Given the description of an element on the screen output the (x, y) to click on. 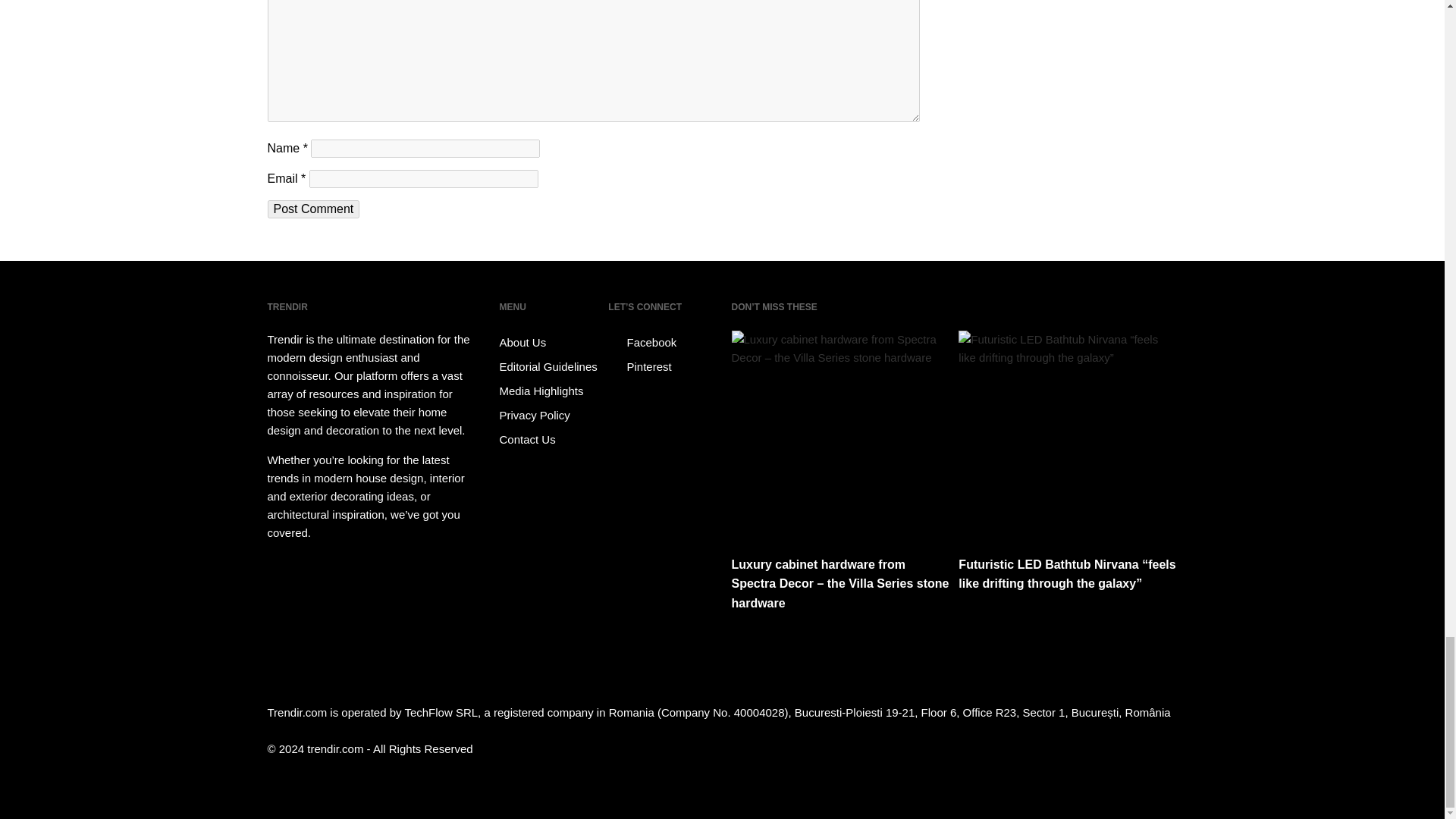
Editorial Guidelines (551, 366)
About Us - Trendir (551, 342)
Post Comment (312, 208)
Post Comment (312, 208)
About Us (551, 342)
Media Highlights (551, 391)
Trendir Editorial Guidelines (551, 366)
Media Highlights - Trendir (551, 391)
Privacy Policy (551, 415)
